Given the description of an element on the screen output the (x, y) to click on. 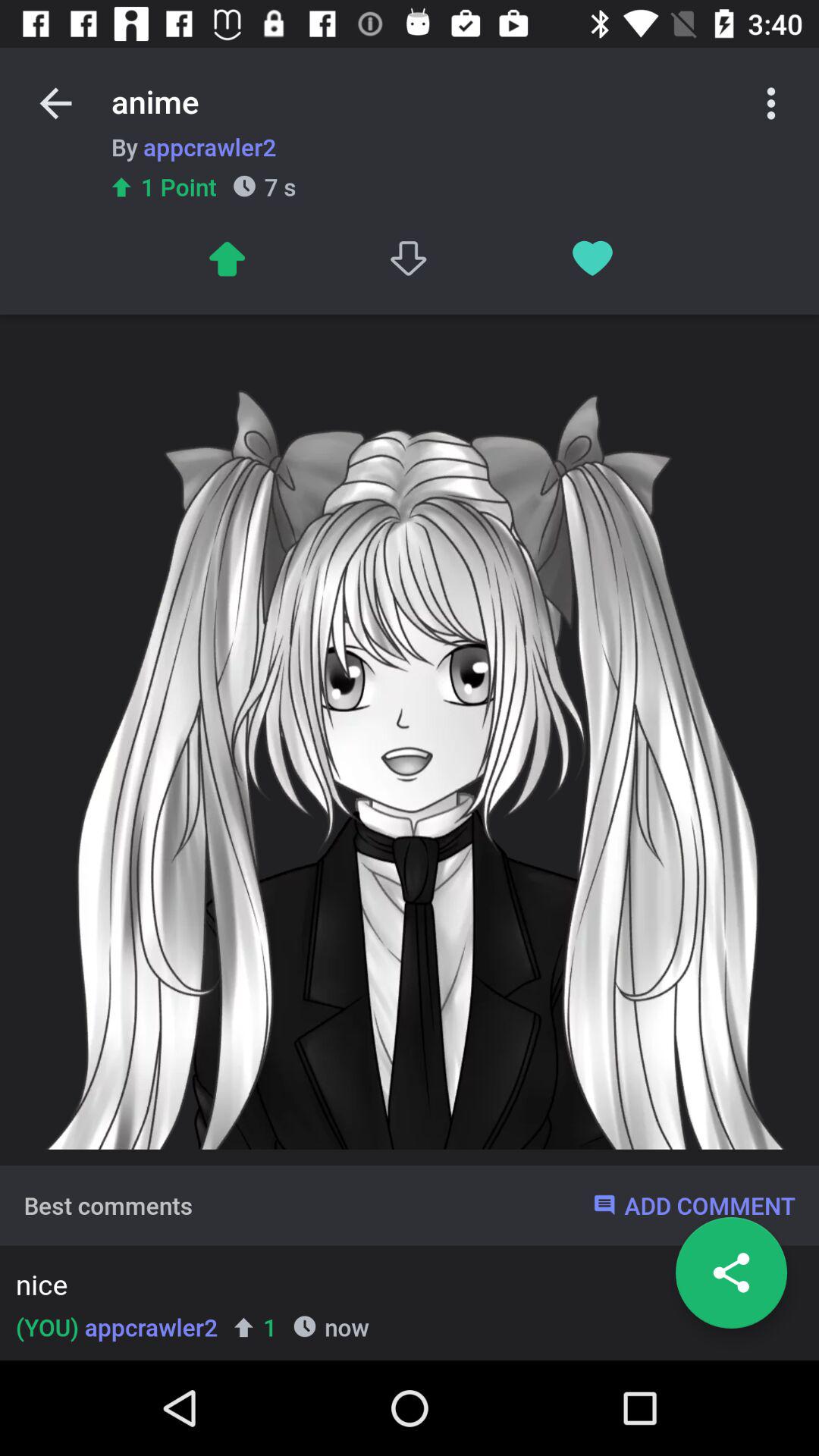
tap the icon next to the add comment icon (108, 1205)
